Given the description of an element on the screen output the (x, y) to click on. 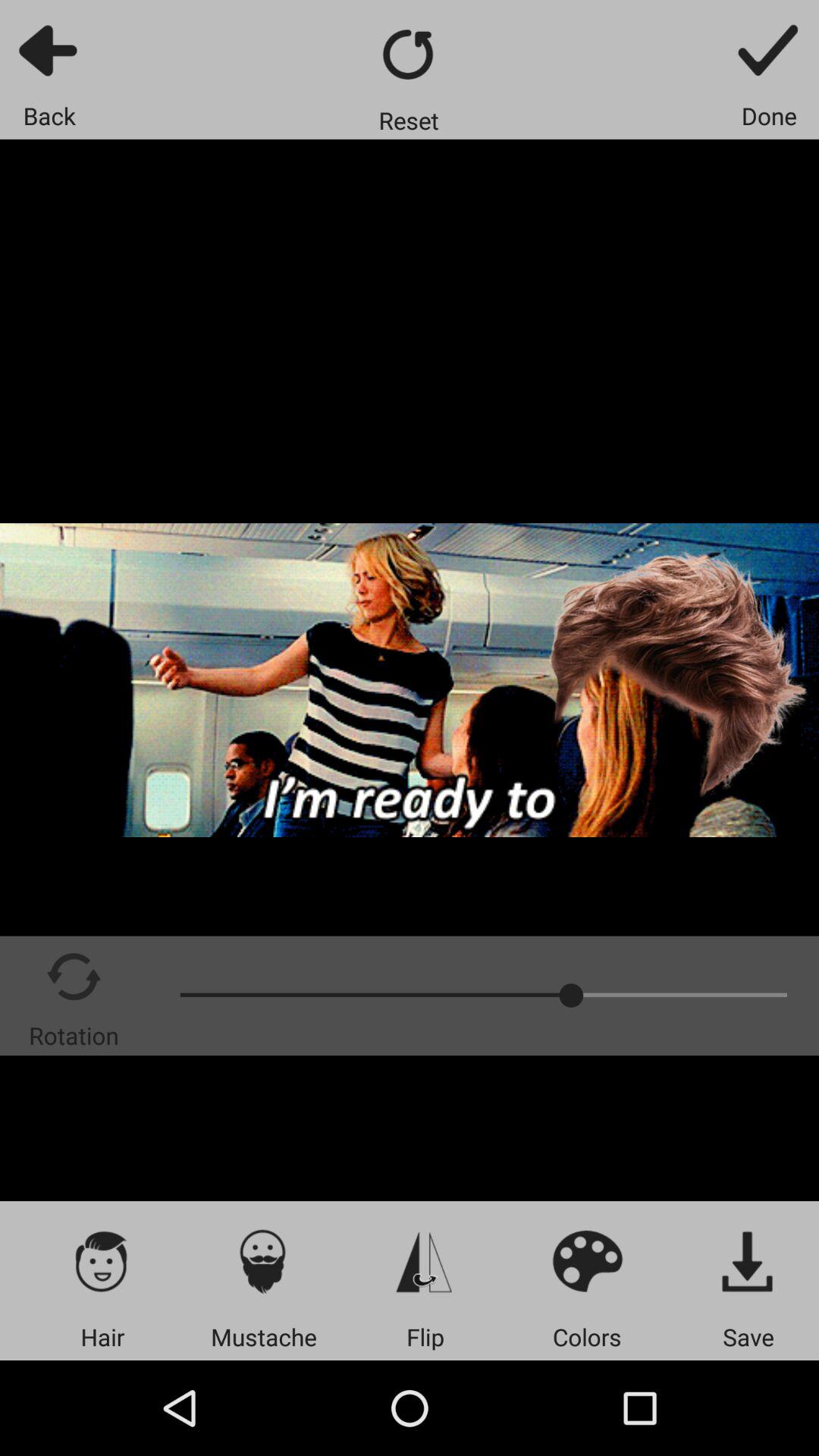
press item above mustache item (263, 1260)
